Given the description of an element on the screen output the (x, y) to click on. 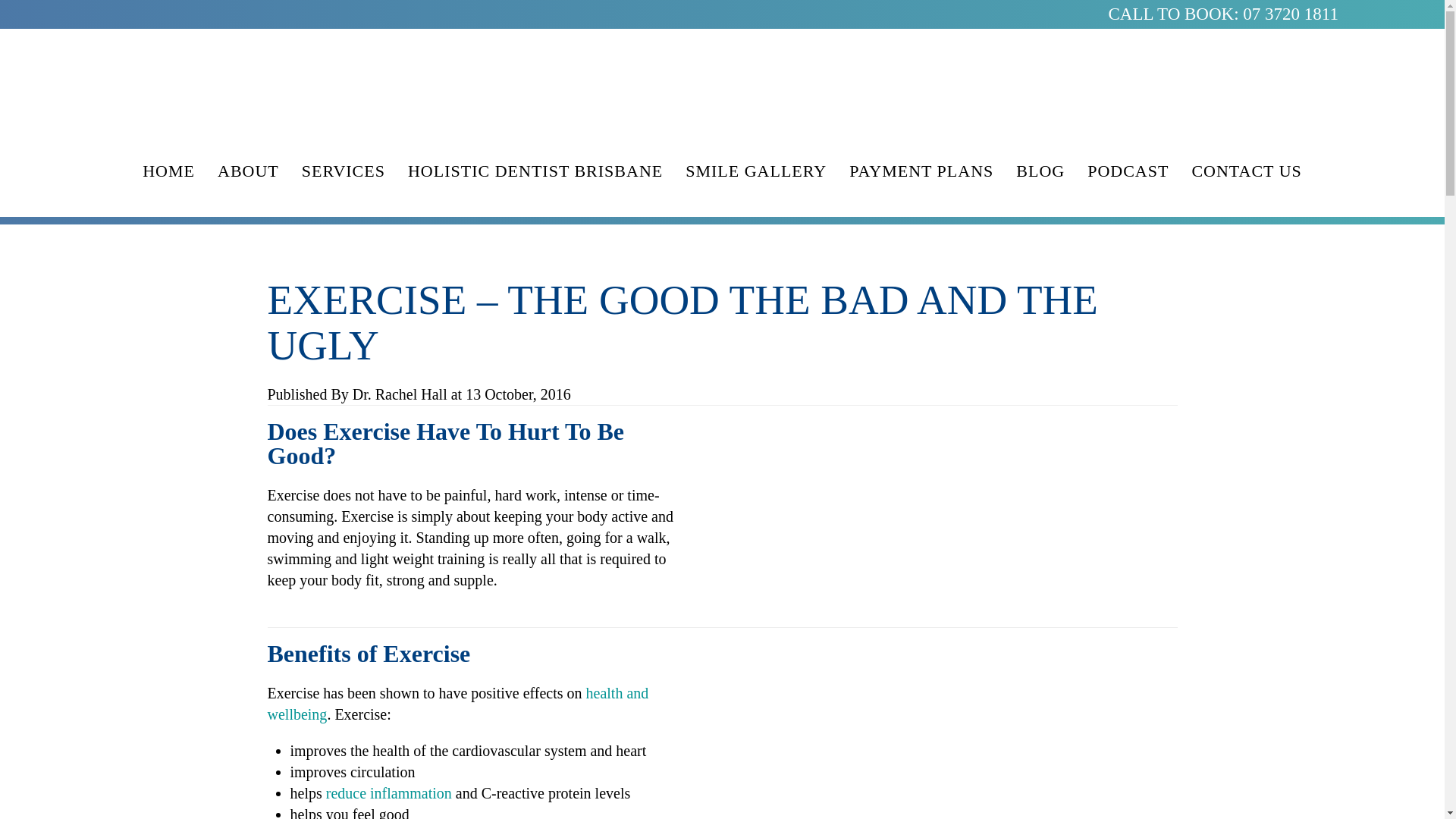
HOME (168, 171)
ABOUT (247, 171)
Home (168, 171)
07 3720 1811 (1290, 13)
Services (342, 171)
SERVICES (342, 171)
HOLISTIC DENTIST BRISBANE (535, 171)
About (247, 171)
